Given the description of an element on the screen output the (x, y) to click on. 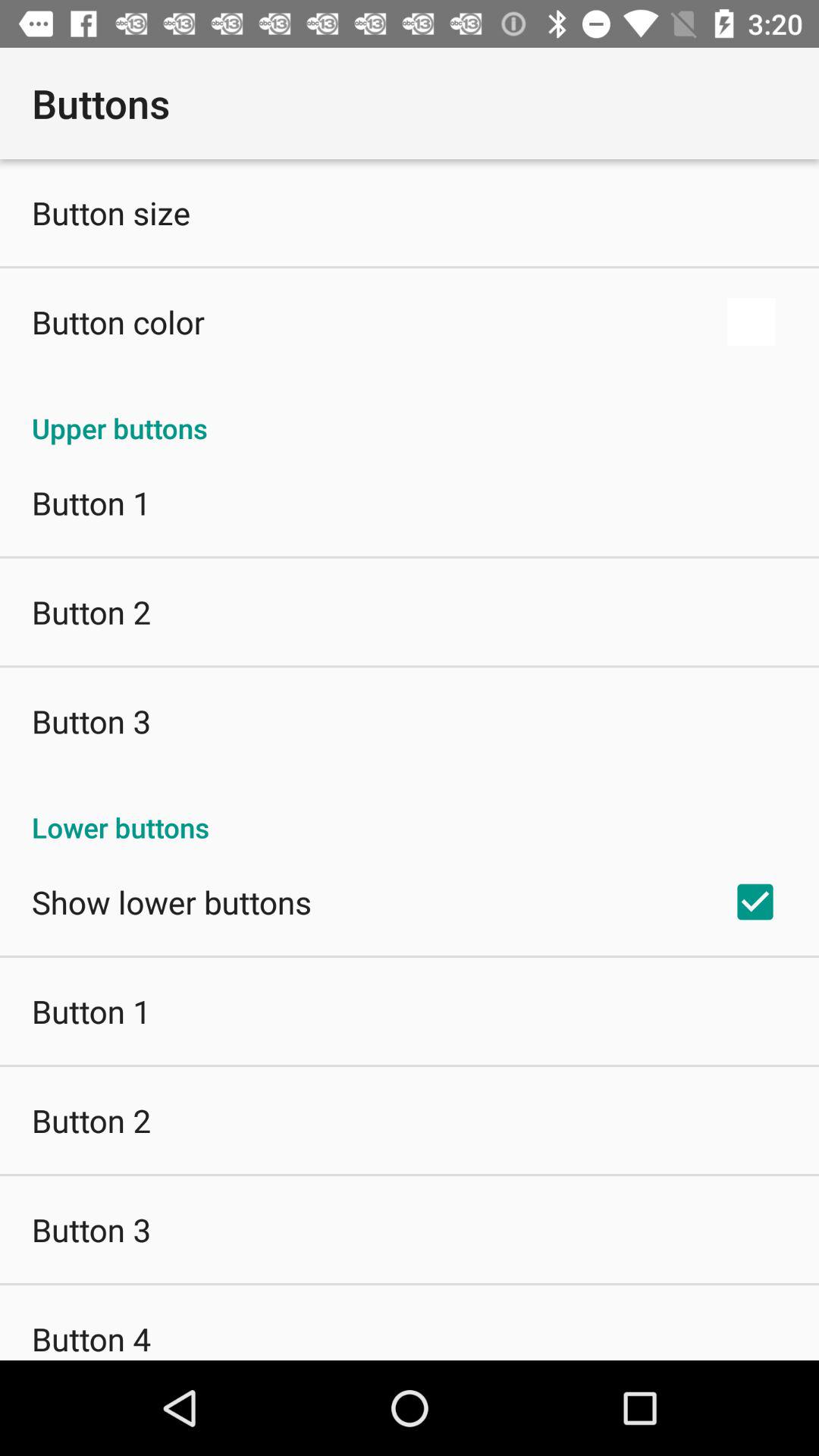
tap item above the button 1 icon (409, 412)
